Given the description of an element on the screen output the (x, y) to click on. 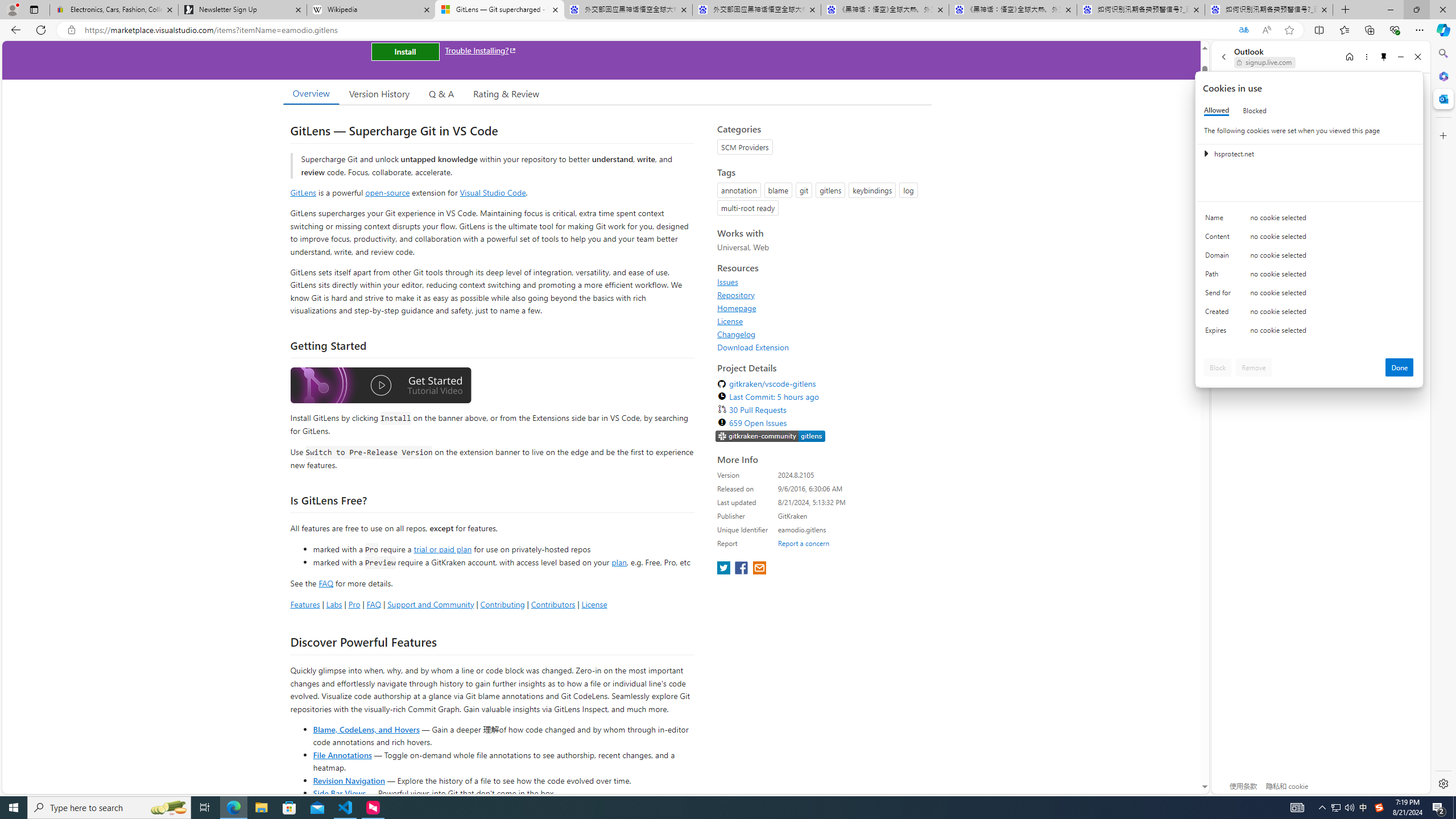
Expires (1219, 332)
Done (1399, 367)
Block (1217, 367)
Path (1219, 276)
Class: c0153 c0157 (1309, 332)
Content (1219, 239)
Name (1219, 220)
Created (1219, 313)
Class: c0153 c0157 c0154 (1309, 220)
Send for (1219, 295)
Blocked (1255, 110)
Domain (1219, 257)
no cookie selected (1331, 332)
Allowed (1216, 110)
Remove (1253, 367)
